Given the description of an element on the screen output the (x, y) to click on. 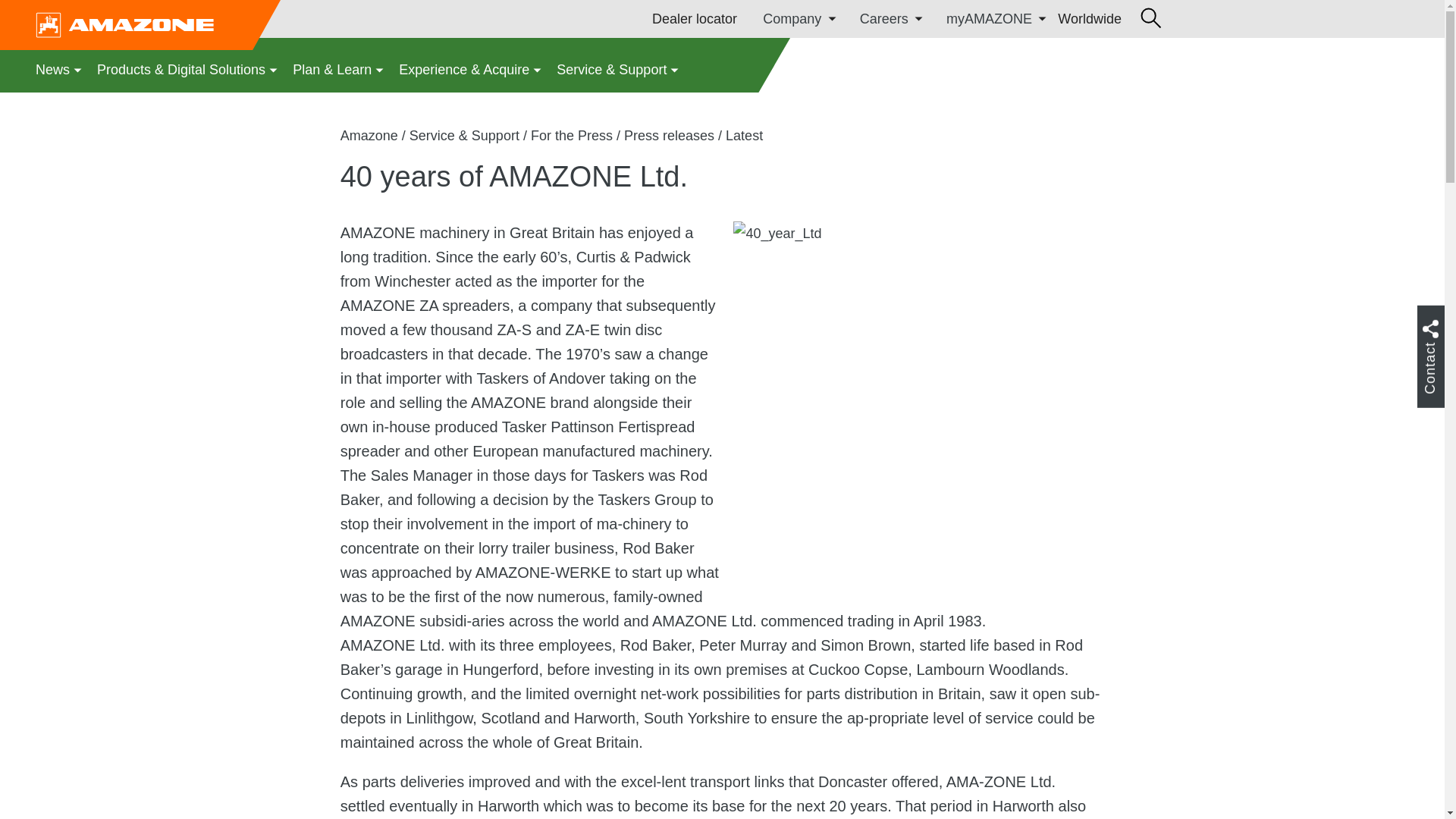
Dealer locator (694, 18)
Worldwide (1089, 18)
News (58, 69)
